Given the description of an element on the screen output the (x, y) to click on. 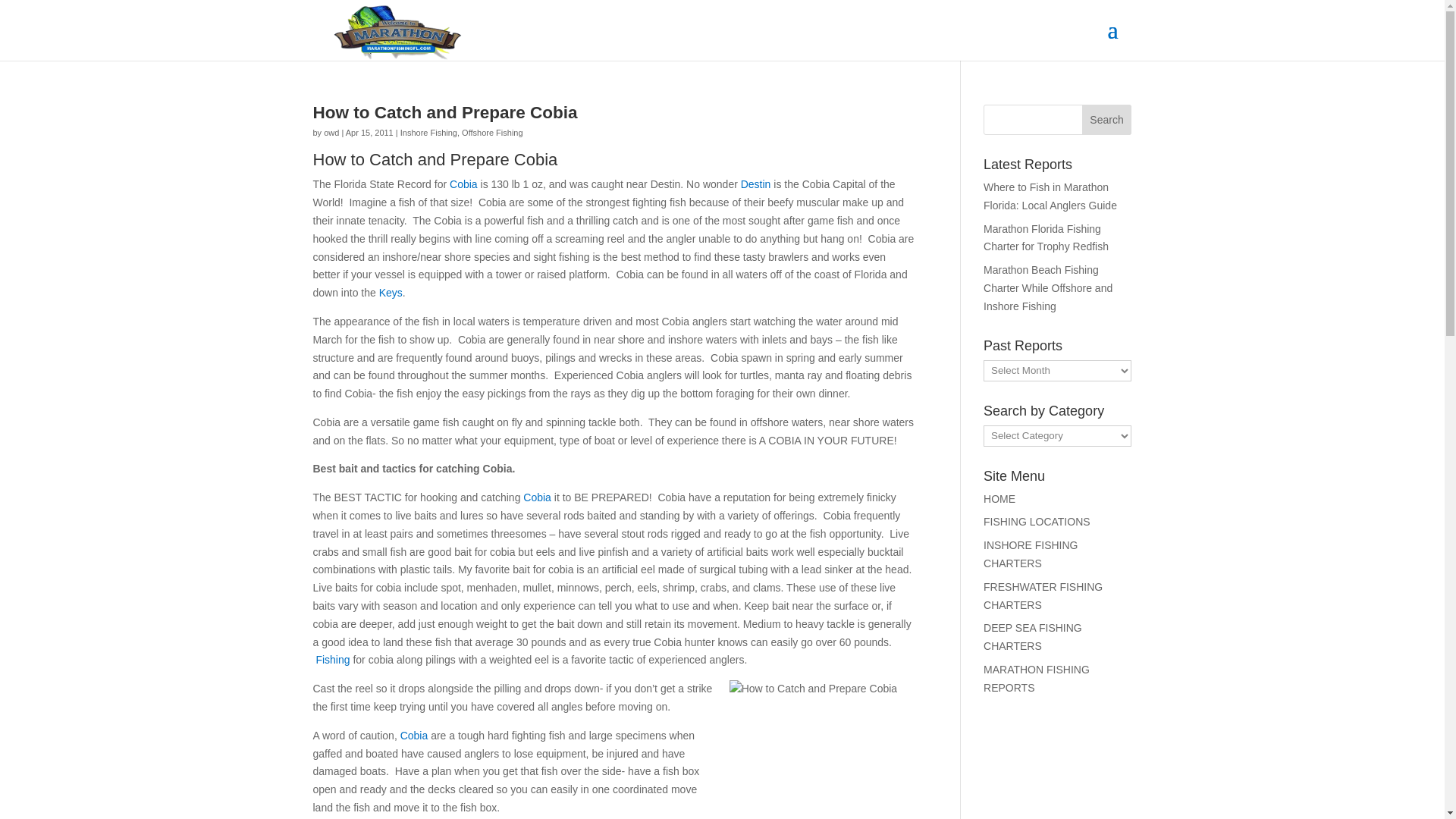
Marathon Florida Fishing Charter for Trophy Redfish (1046, 237)
HOME (999, 499)
Keys (390, 292)
FISHING LOCATIONS (1037, 521)
Cobia (463, 184)
Cobia (414, 735)
MARATHON FISHING REPORTS (1036, 678)
Search (1106, 119)
Keys (390, 292)
Where to Fish in Marathon Florida: Local Anglers Guide (1050, 195)
Fishing (332, 659)
Posts by owd (331, 132)
Cobia (536, 497)
FRESHWATER FISHING CHARTERS (1043, 595)
